Given the description of an element on the screen output the (x, y) to click on. 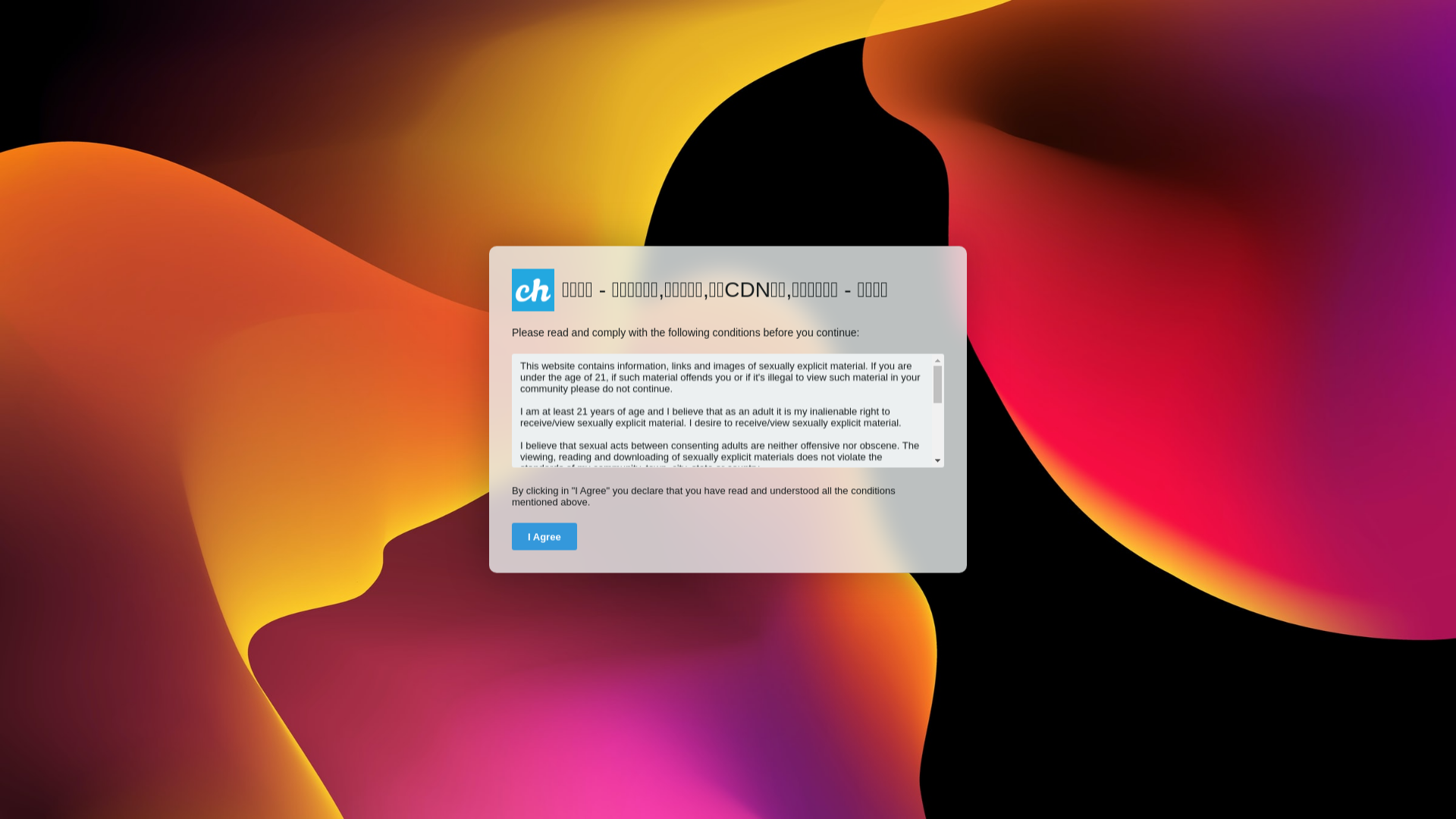
I Agree Element type: text (544, 536)
